Given the description of an element on the screen output the (x, y) to click on. 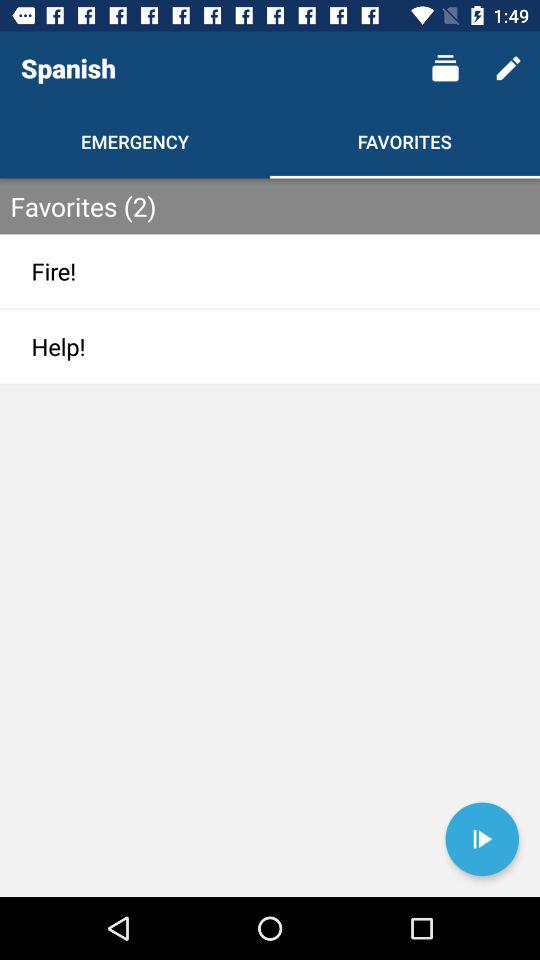
turn off icon to the right of spanish item (444, 67)
